Given the description of an element on the screen output the (x, y) to click on. 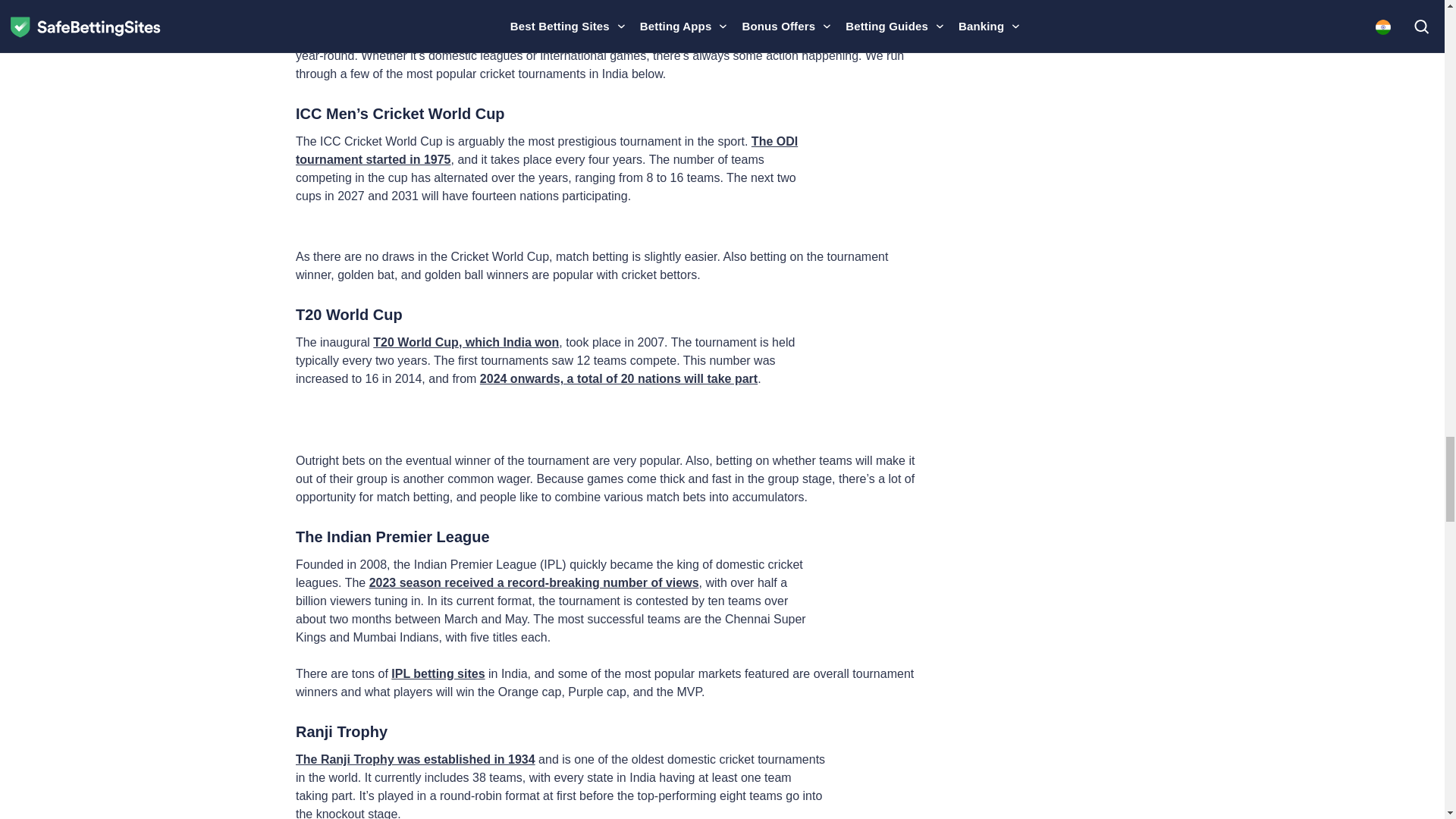
ICC Men's world cup (873, 175)
Indian premier league (872, 588)
T20 (874, 377)
Ranji Trophy (879, 786)
